Given the description of an element on the screen output the (x, y) to click on. 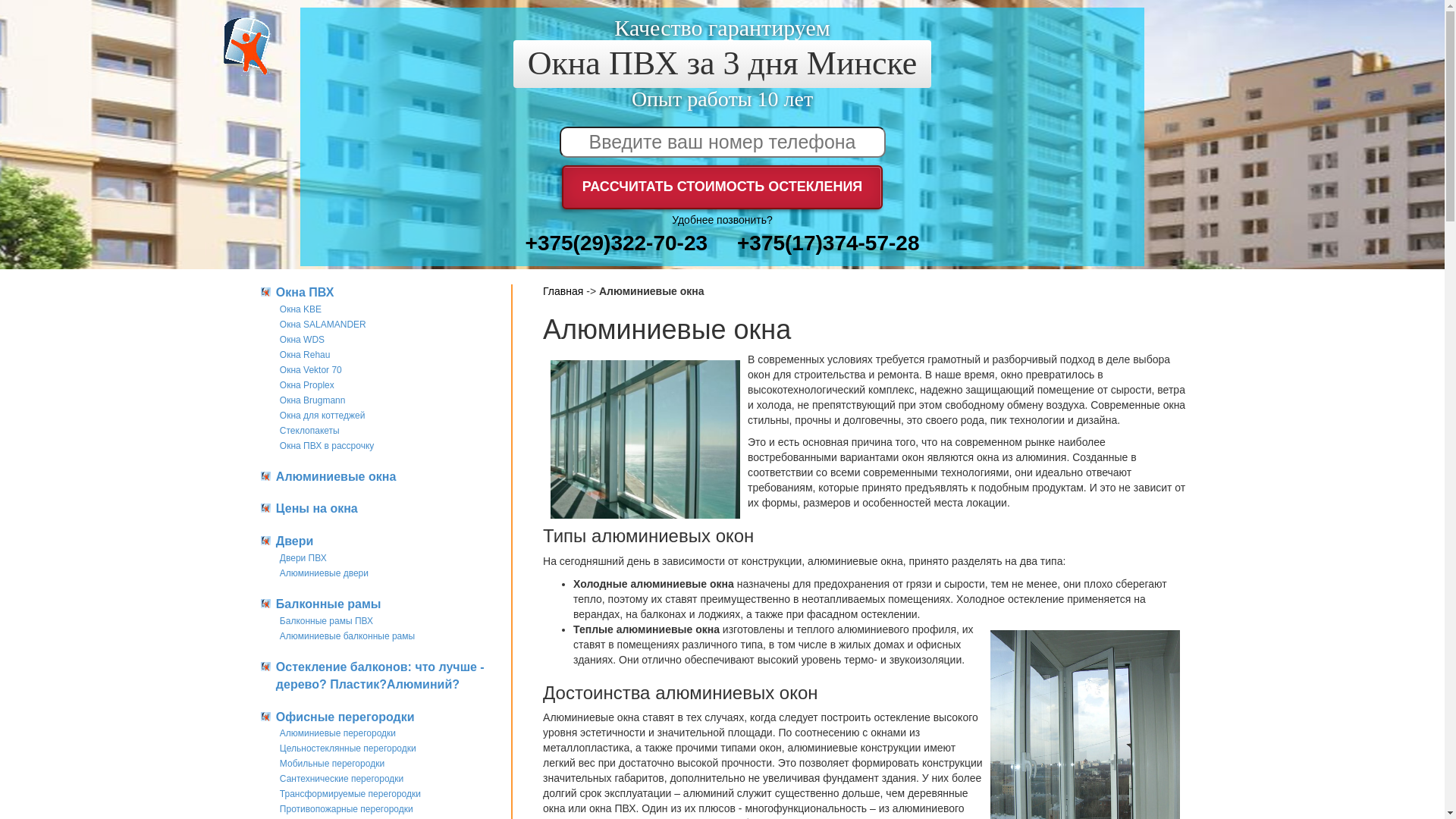
+375(17)374-57-28 Element type: text (828, 242)
+375(29)322-70-23 Element type: text (616, 242)
